Given the description of an element on the screen output the (x, y) to click on. 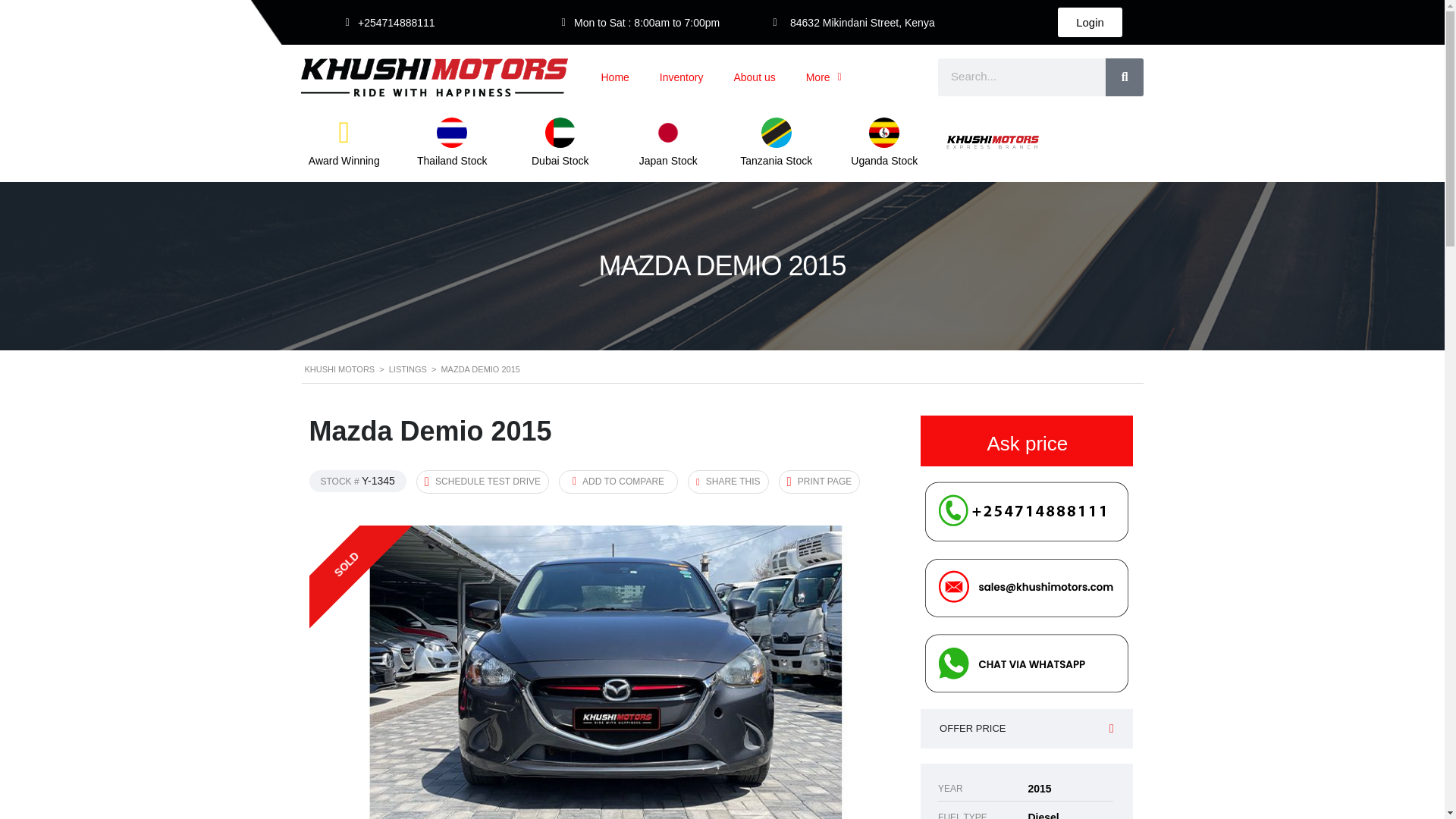
Award Winning (344, 160)
Go to Khushi Motors. (339, 368)
Japan Stock (668, 160)
More (823, 77)
About us (753, 77)
Dubai Stock (559, 160)
Share this (727, 481)
Login (1089, 21)
Thailand Stock (451, 160)
Tanzania Stock (775, 160)
Go to Listings. (407, 368)
Home (614, 77)
Inventory (682, 77)
Uganda Stock (883, 160)
KHUSHI MOTORS (339, 368)
